Given the description of an element on the screen output the (x, y) to click on. 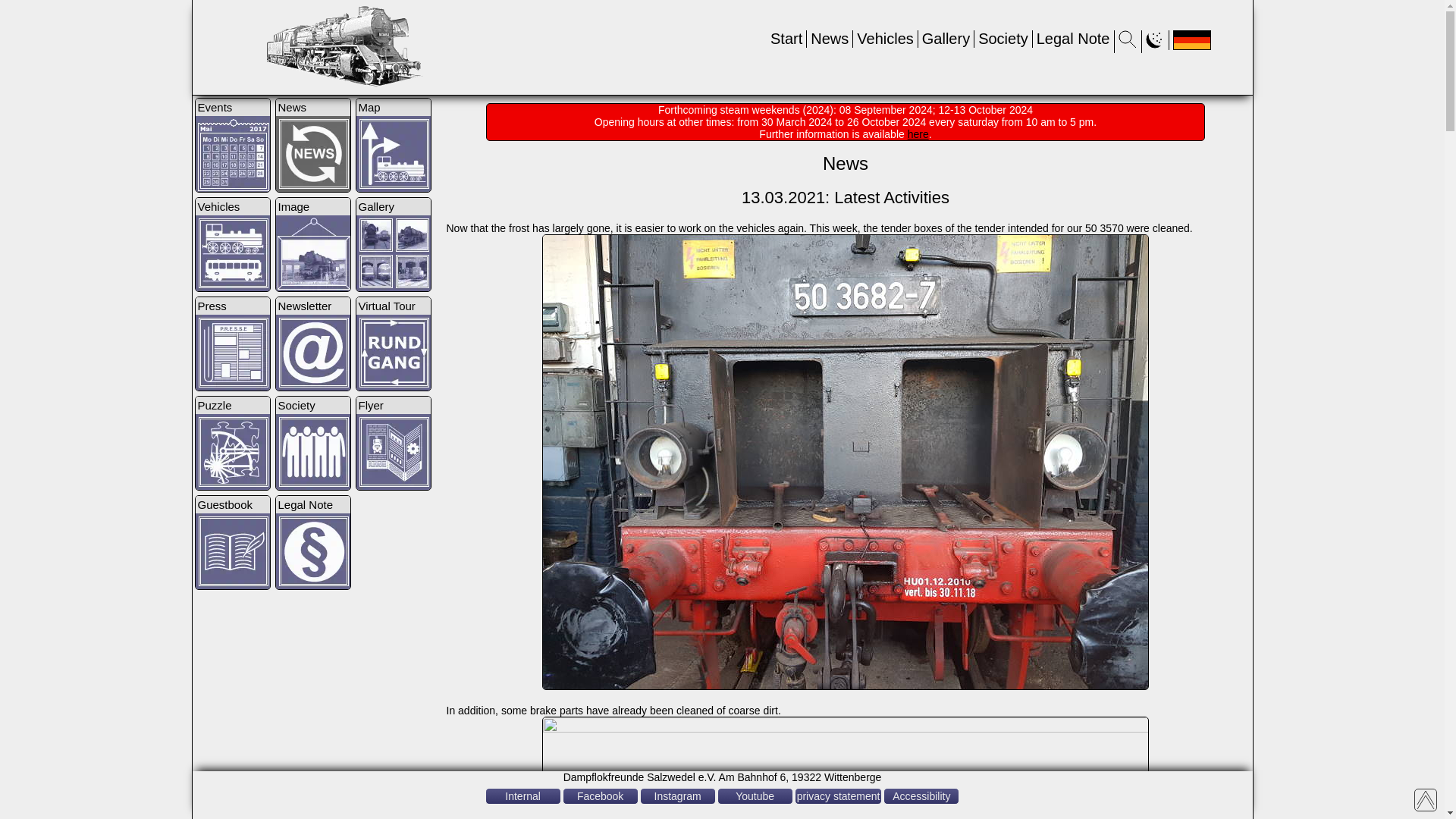
Vehicles (885, 38)
Legal Note (1072, 38)
Start (786, 38)
News (829, 38)
Society (1002, 38)
Gallery (945, 38)
